Given the description of an element on the screen output the (x, y) to click on. 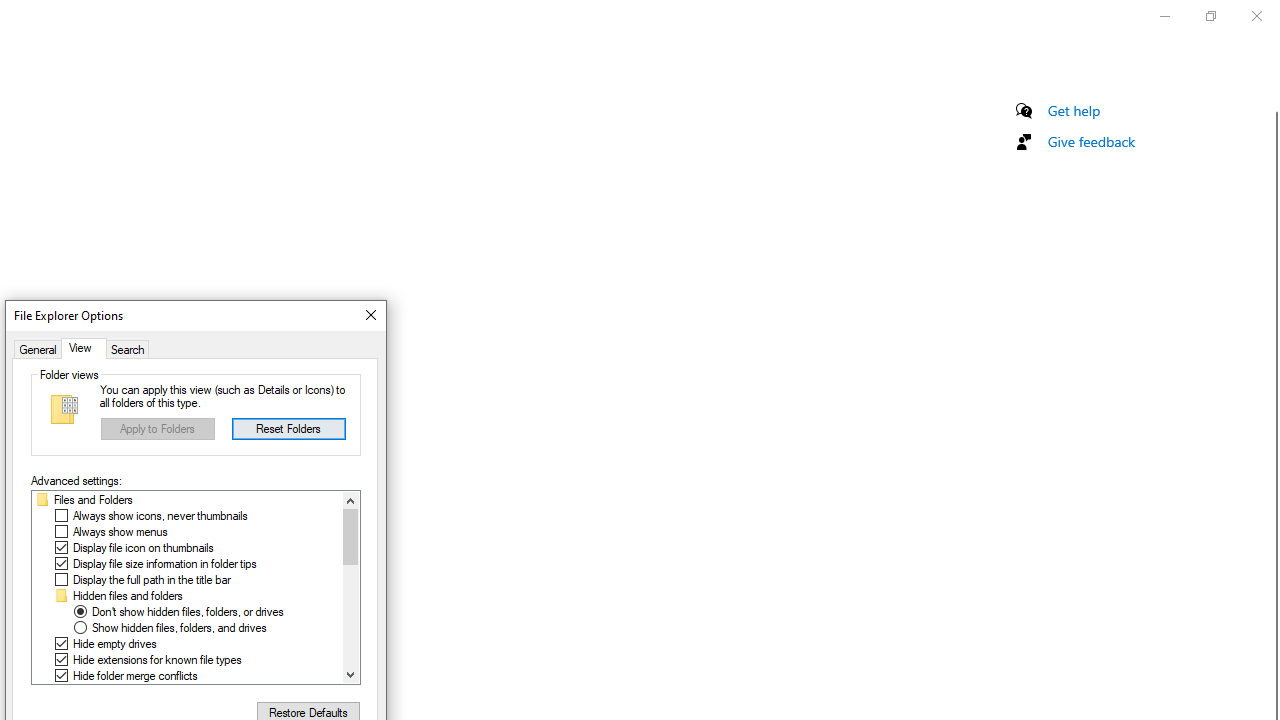
Hide folder merge conflicts (134, 675)
Apply to Folders (157, 428)
Line up (349, 500)
General (38, 348)
Always show menus (120, 532)
View (83, 348)
Hide empty drives (114, 643)
